Given the description of an element on the screen output the (x, y) to click on. 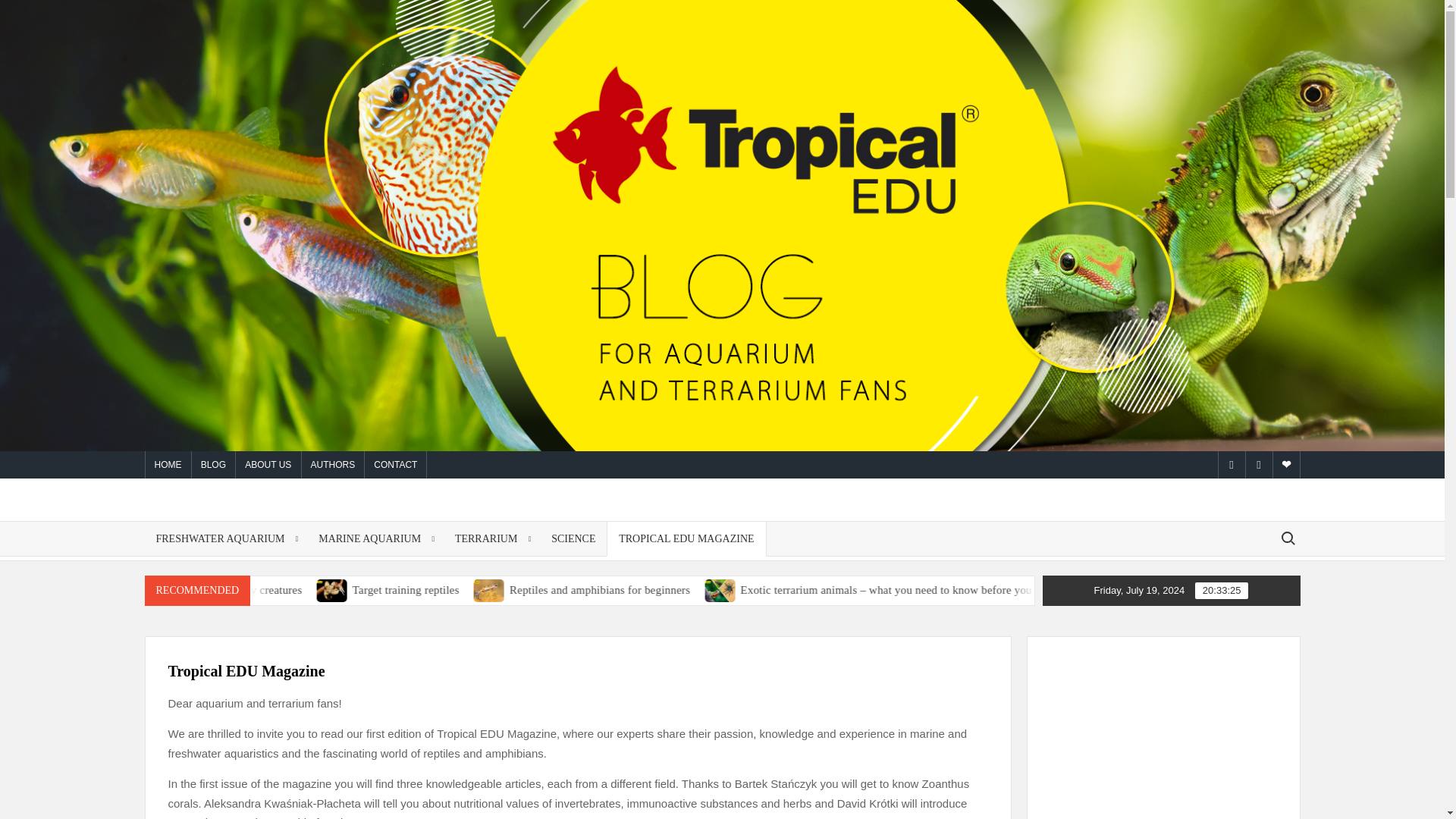
Facebook (1230, 464)
You Tube (1257, 464)
BLOG (213, 464)
AUTHORS (333, 464)
HOME (167, 464)
Reptiles and amphibians for beginners (698, 589)
Strona Tropical (1285, 464)
CONTACT (395, 464)
Reptiles and amphibians for beginners (590, 589)
FRESHWATER AQUARIUM (225, 538)
TROPICAL EDU INTERNATIONAL (265, 538)
ABOUT US (267, 464)
Target training reptiles (507, 589)
Target training reptiles (436, 589)
